Given the description of an element on the screen output the (x, y) to click on. 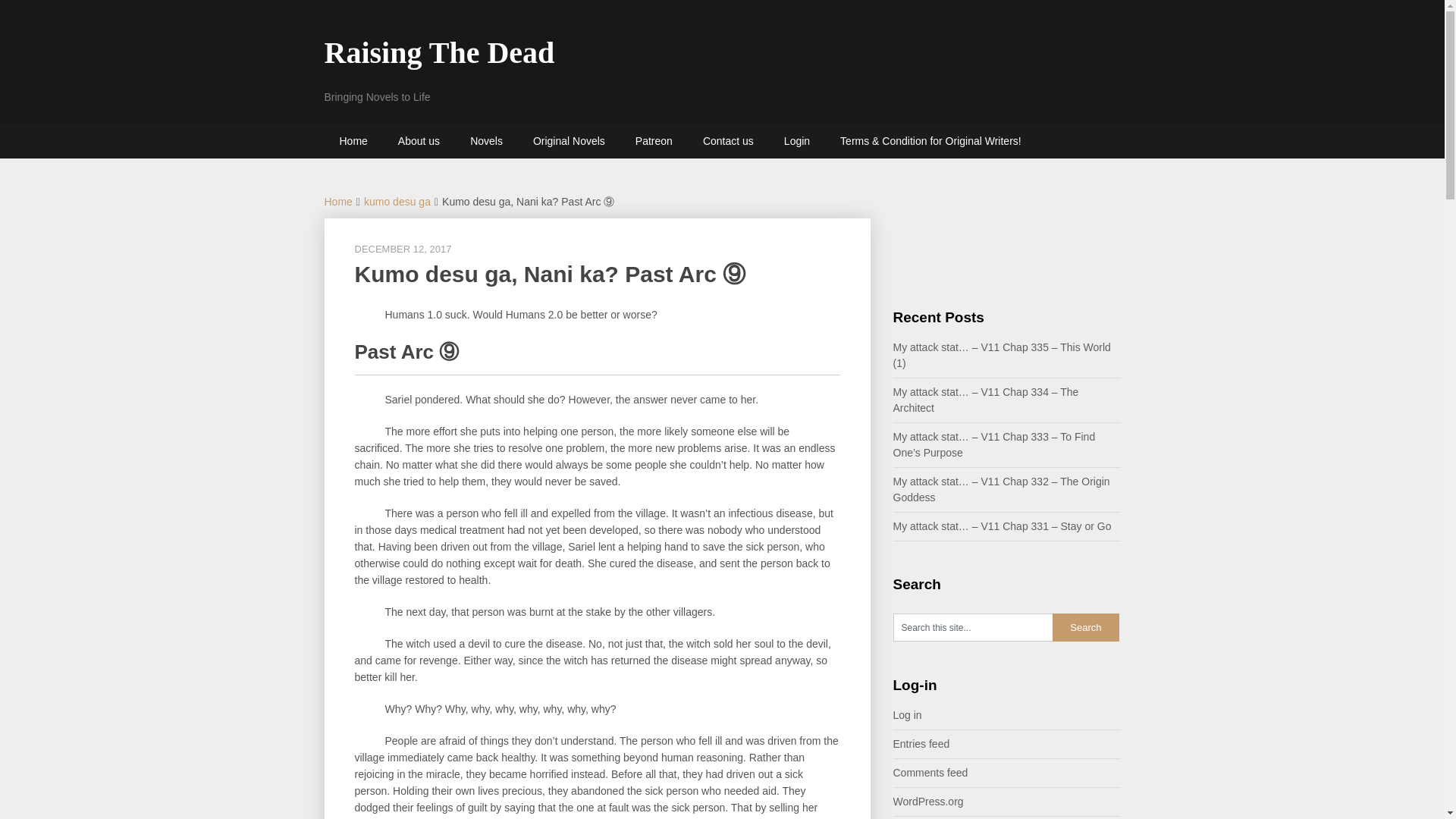
Patreon (653, 141)
kumo desu ga (397, 201)
WordPress.org (928, 801)
Home (353, 141)
Log in (907, 715)
Login (796, 141)
Search (1085, 627)
Original Novels (569, 141)
Contact us (727, 141)
Raising The Dead (439, 52)
Novels (486, 141)
About us (418, 141)
Search this site... (972, 627)
Comments feed (930, 772)
Entries feed (921, 743)
